Given the description of an element on the screen output the (x, y) to click on. 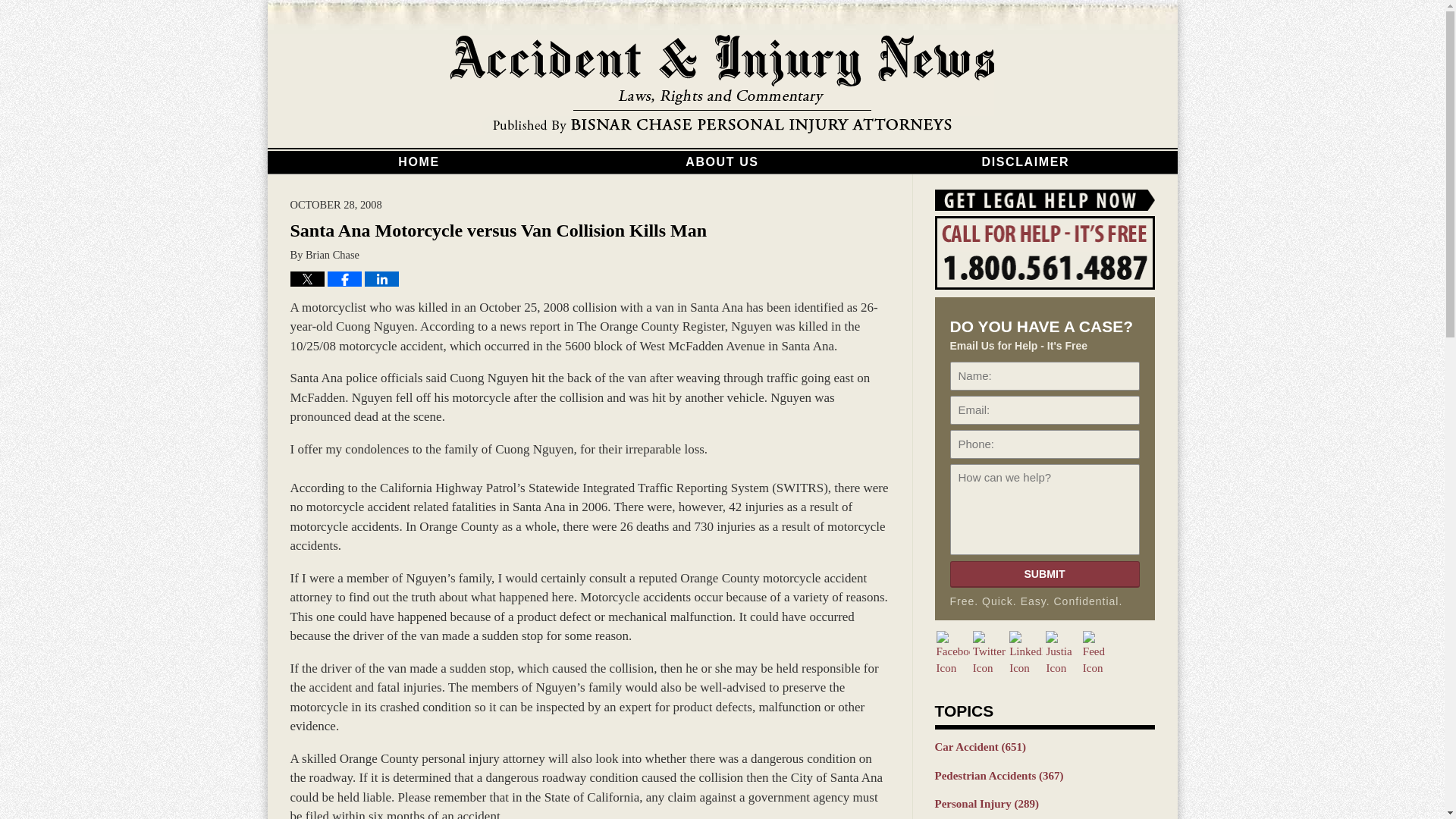
Please enter a valid phone number. (1043, 443)
SUBMIT (1043, 574)
DISCLAIMER (1024, 161)
ABOUT US (721, 161)
HOME (418, 161)
California Injury Blog (721, 84)
